Given the description of an element on the screen output the (x, y) to click on. 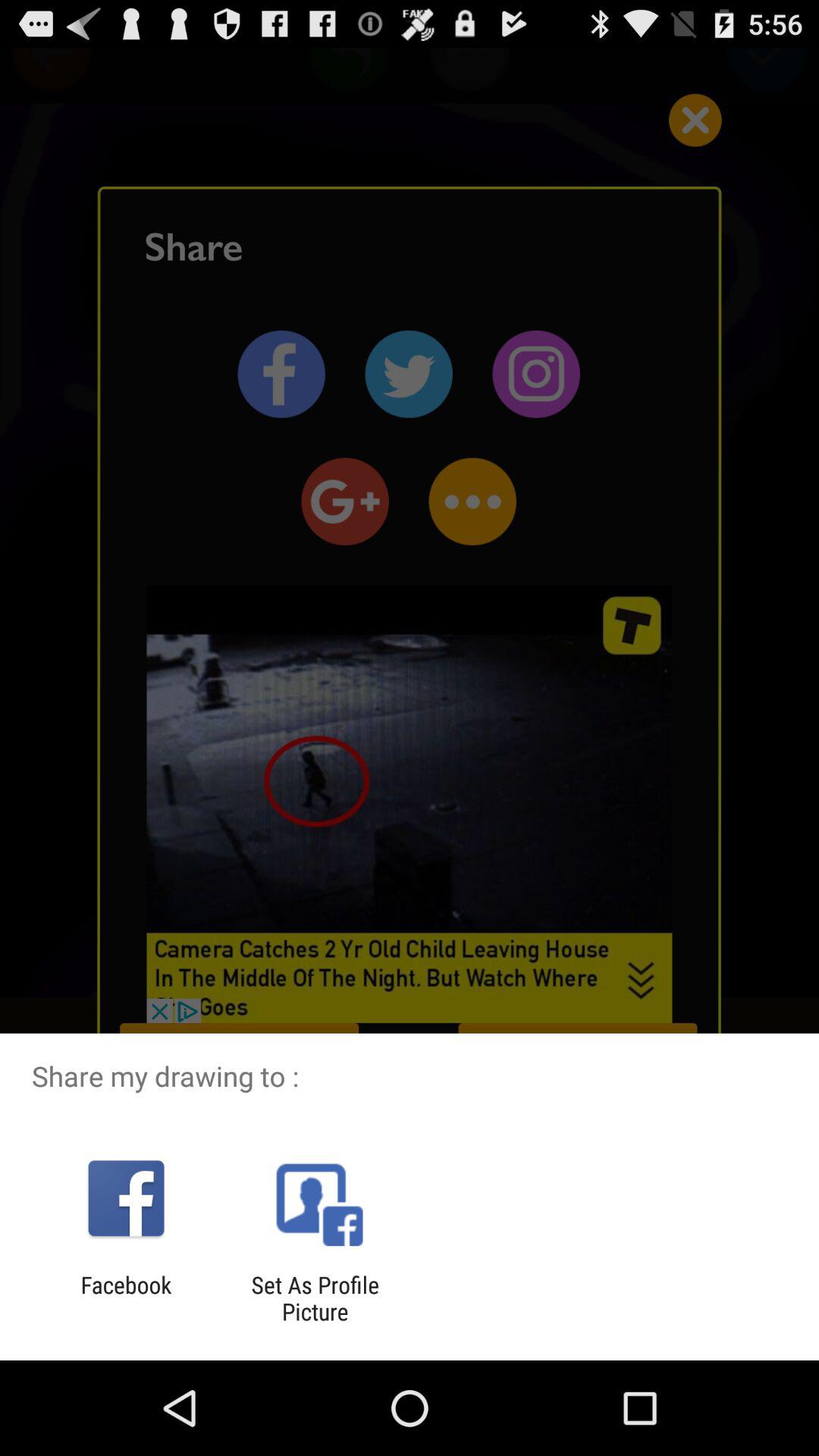
scroll to facebook item (125, 1298)
